Given the description of an element on the screen output the (x, y) to click on. 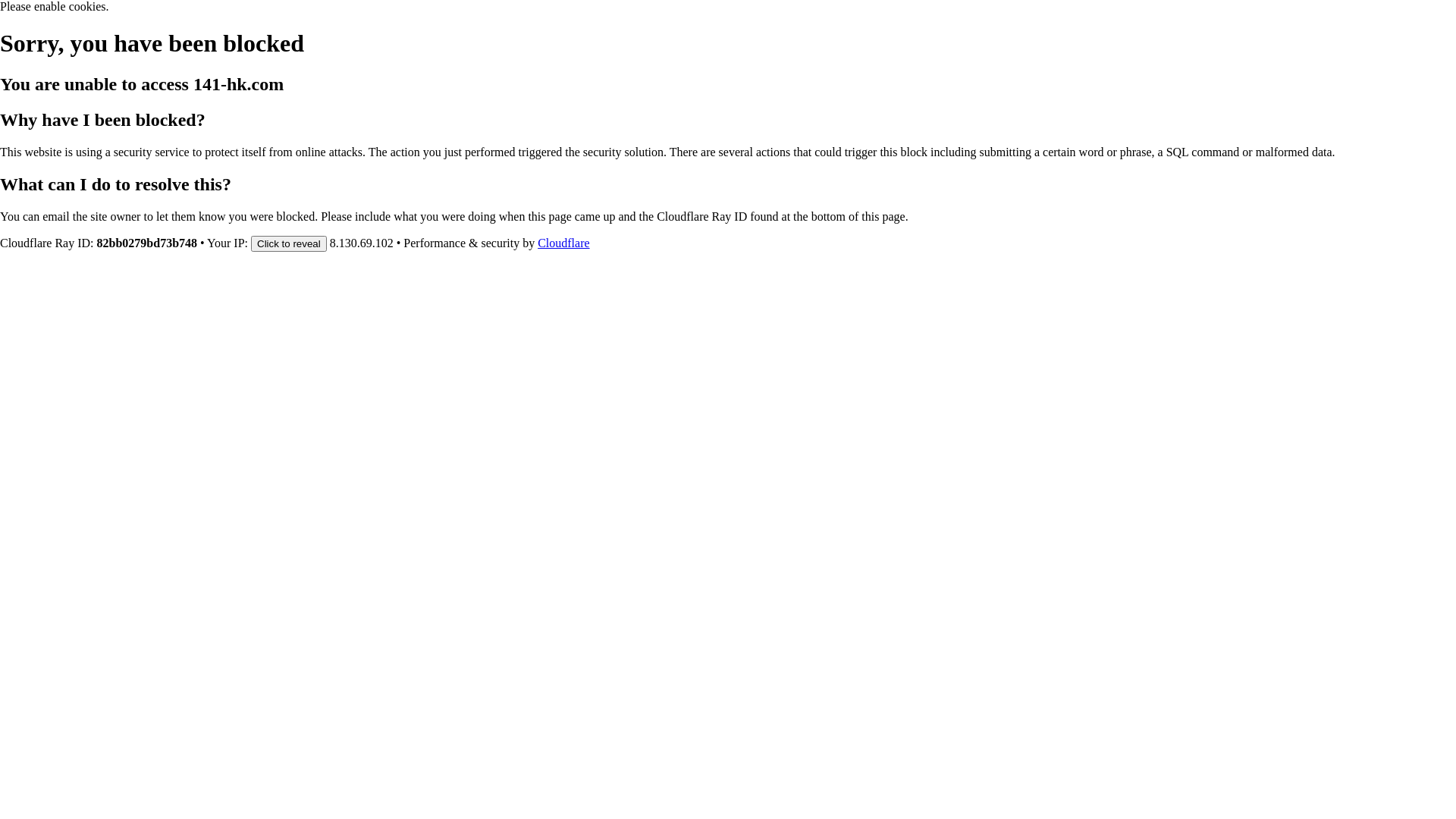
Click to reveal Element type: text (288, 243)
Cloudflare Element type: text (563, 242)
